Given the description of an element on the screen output the (x, y) to click on. 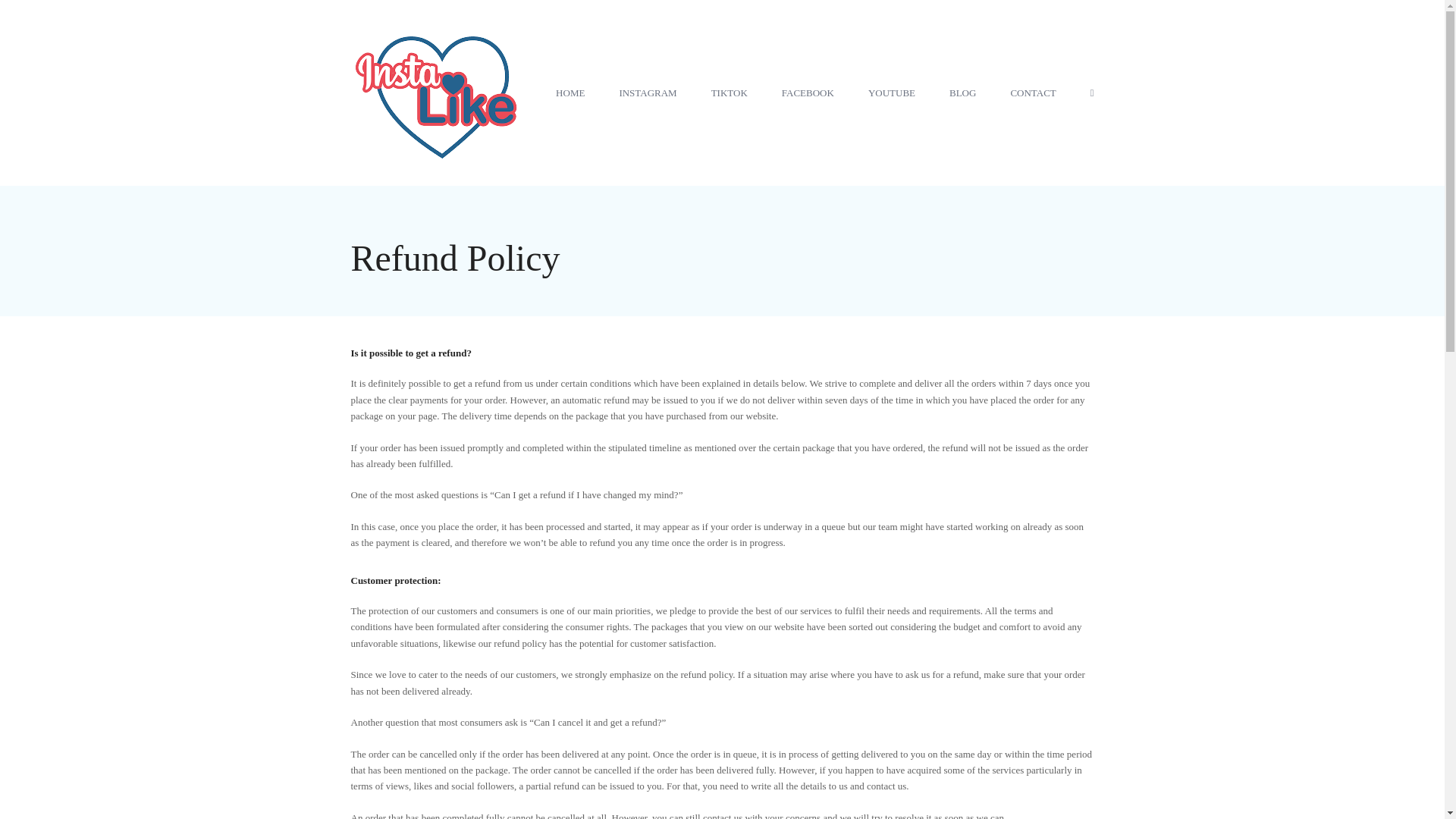
INSTAGRAM (647, 93)
CONTACT (1032, 93)
HOME (569, 93)
YOUTUBE (891, 93)
TIKTOK (729, 93)
BLOG (962, 93)
FACEBOOK (807, 93)
